Given the description of an element on the screen output the (x, y) to click on. 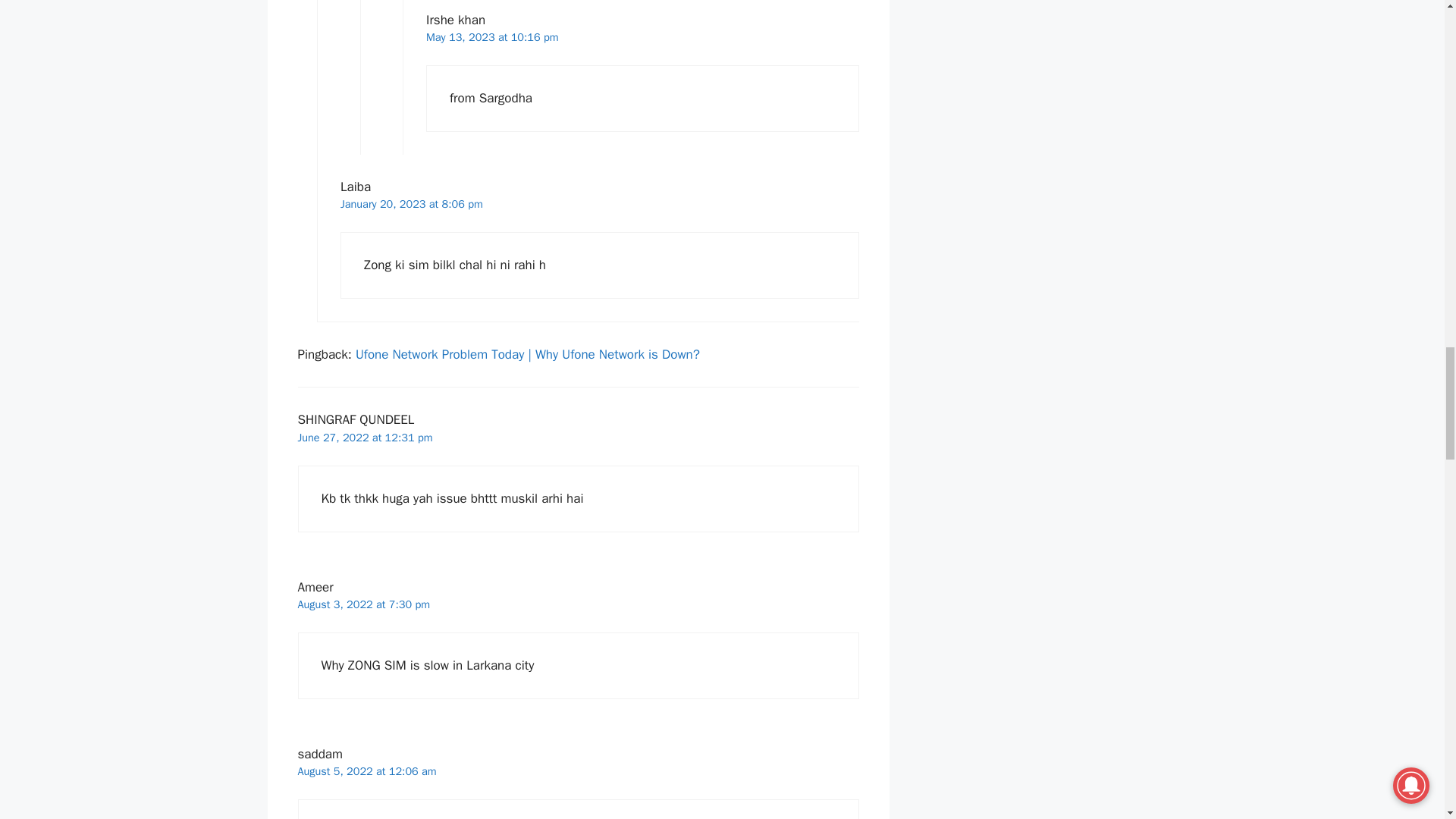
May 13, 2023 at 10:16 pm (492, 37)
August 3, 2022 at 7:30 pm (363, 603)
June 27, 2022 at 12:31 pm (364, 437)
August 5, 2022 at 12:06 am (366, 771)
January 20, 2023 at 8:06 pm (411, 203)
